Given the description of an element on the screen output the (x, y) to click on. 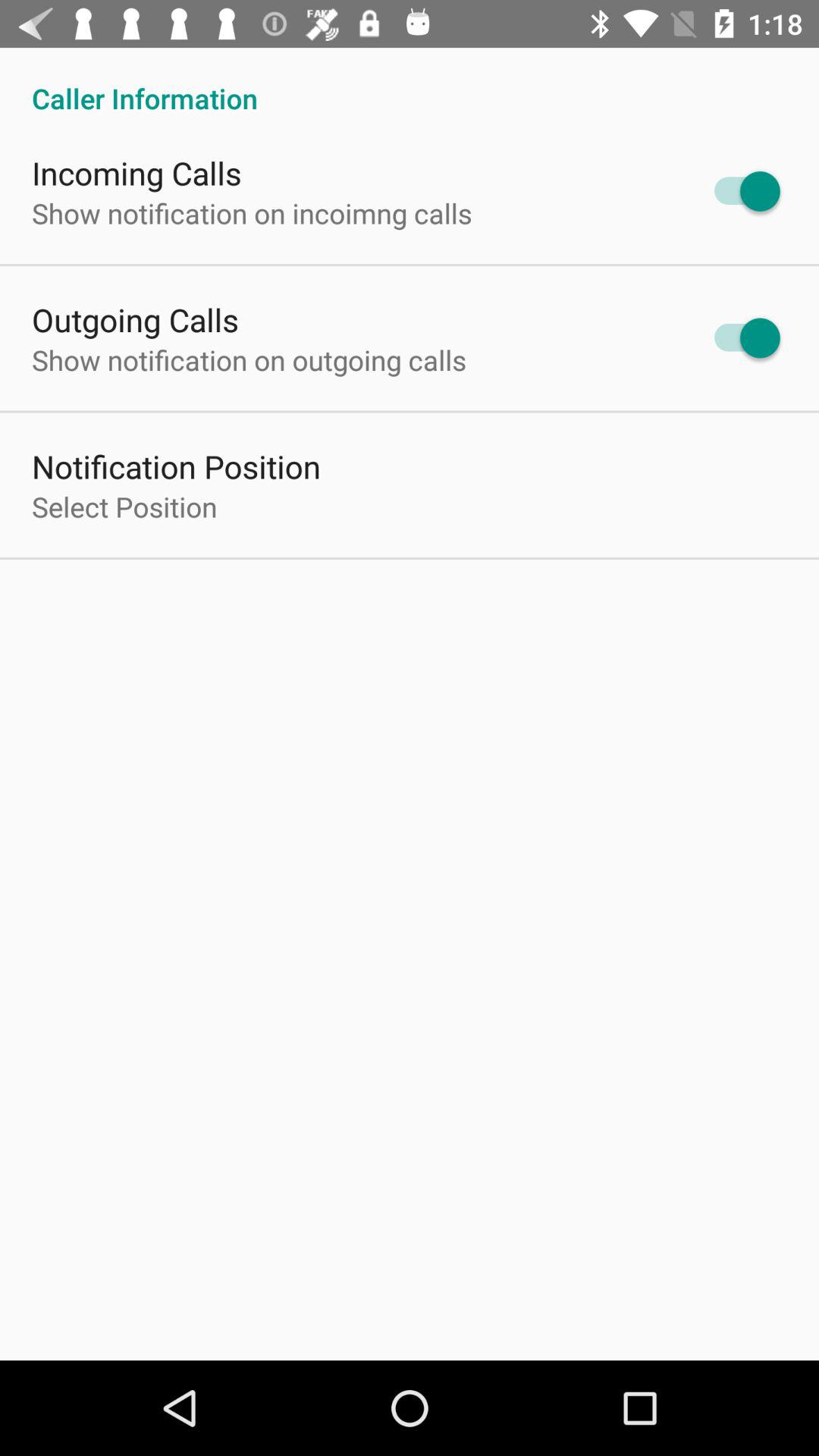
press the incoming calls item (136, 172)
